Given the description of an element on the screen output the (x, y) to click on. 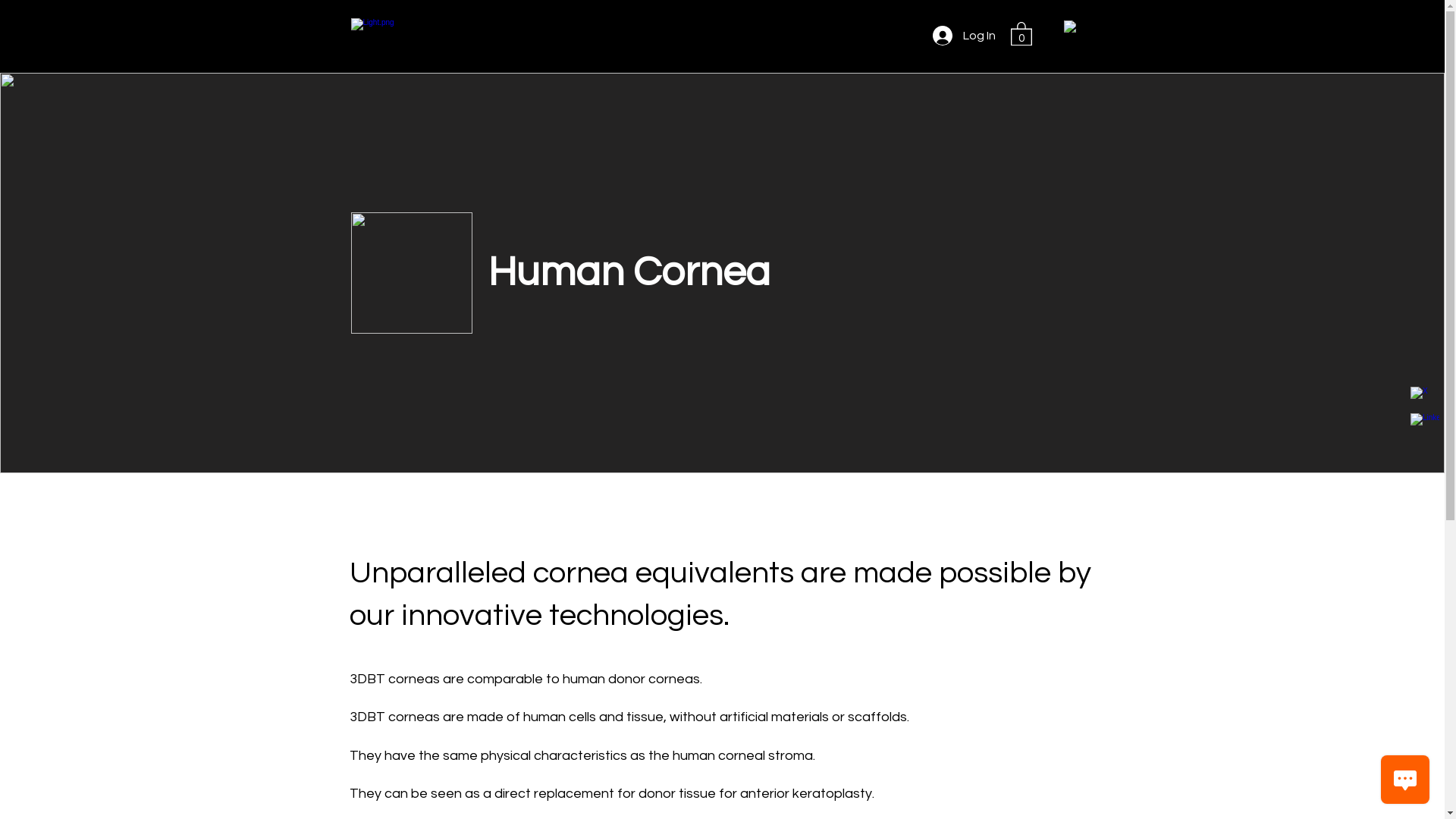
Log In Element type: text (964, 35)
0 Element type: text (1020, 32)
